Given the description of an element on the screen output the (x, y) to click on. 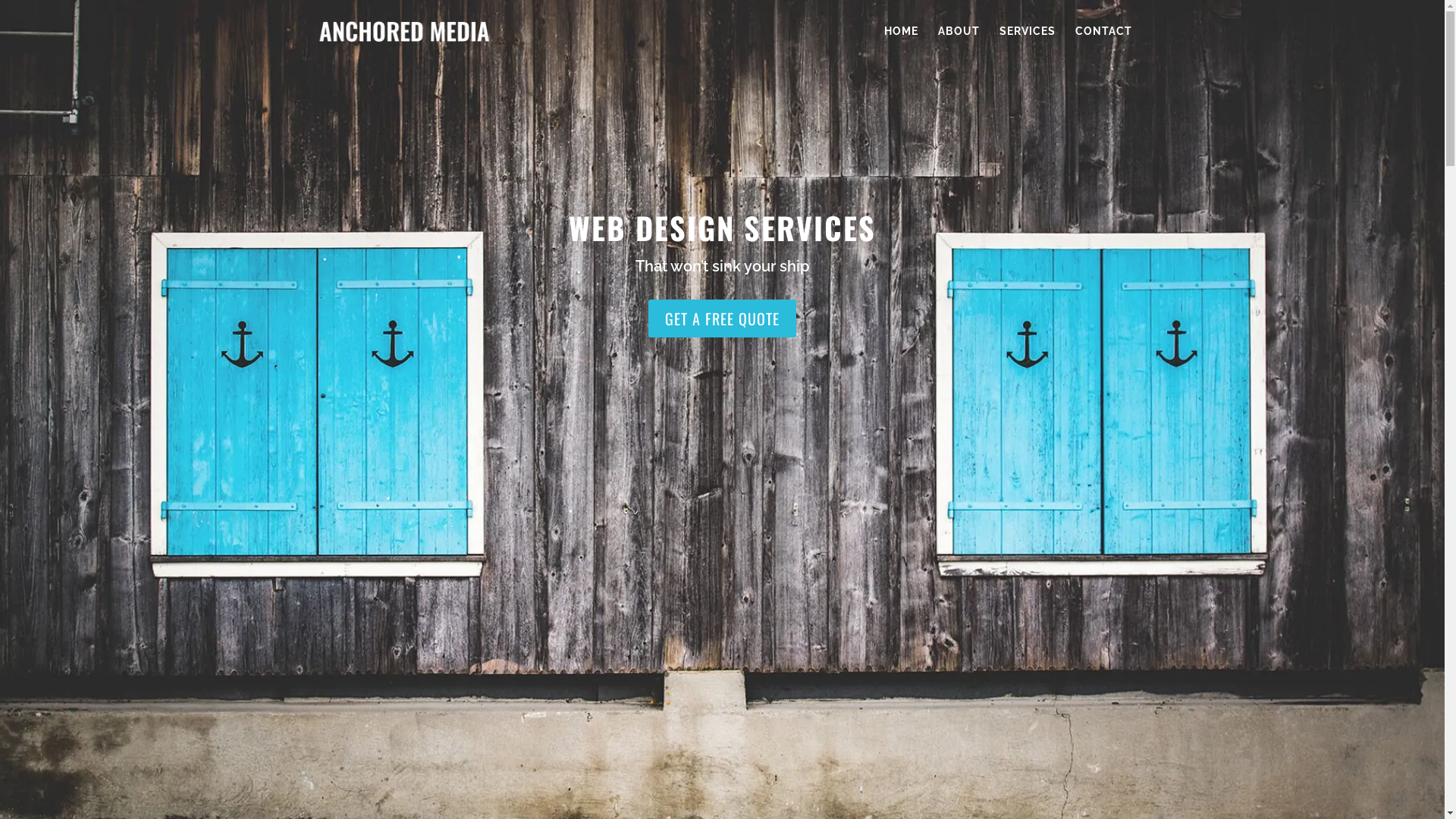
SERVICES Element type: text (1027, 43)
HOME Element type: text (901, 43)
GET A FREE QUOTE Element type: text (722, 318)
ABOUT Element type: text (958, 43)
CONTACT Element type: text (1103, 43)
